Given the description of an element on the screen output the (x, y) to click on. 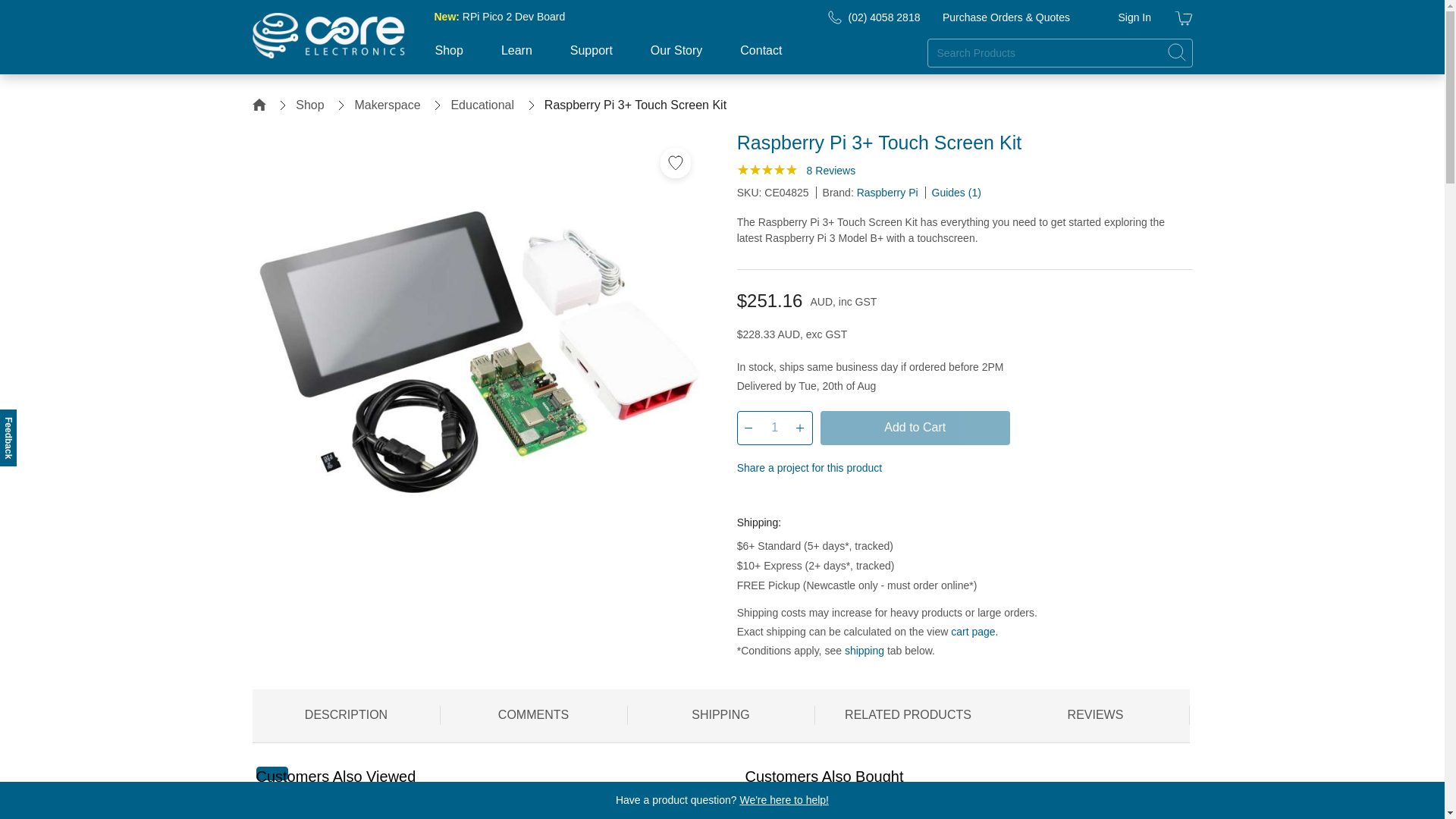
My Cart (1182, 20)
New: RPi Pico 2 Dev Board (498, 16)
Shop (447, 59)
Core Electronics (327, 35)
